Given the description of an element on the screen output the (x, y) to click on. 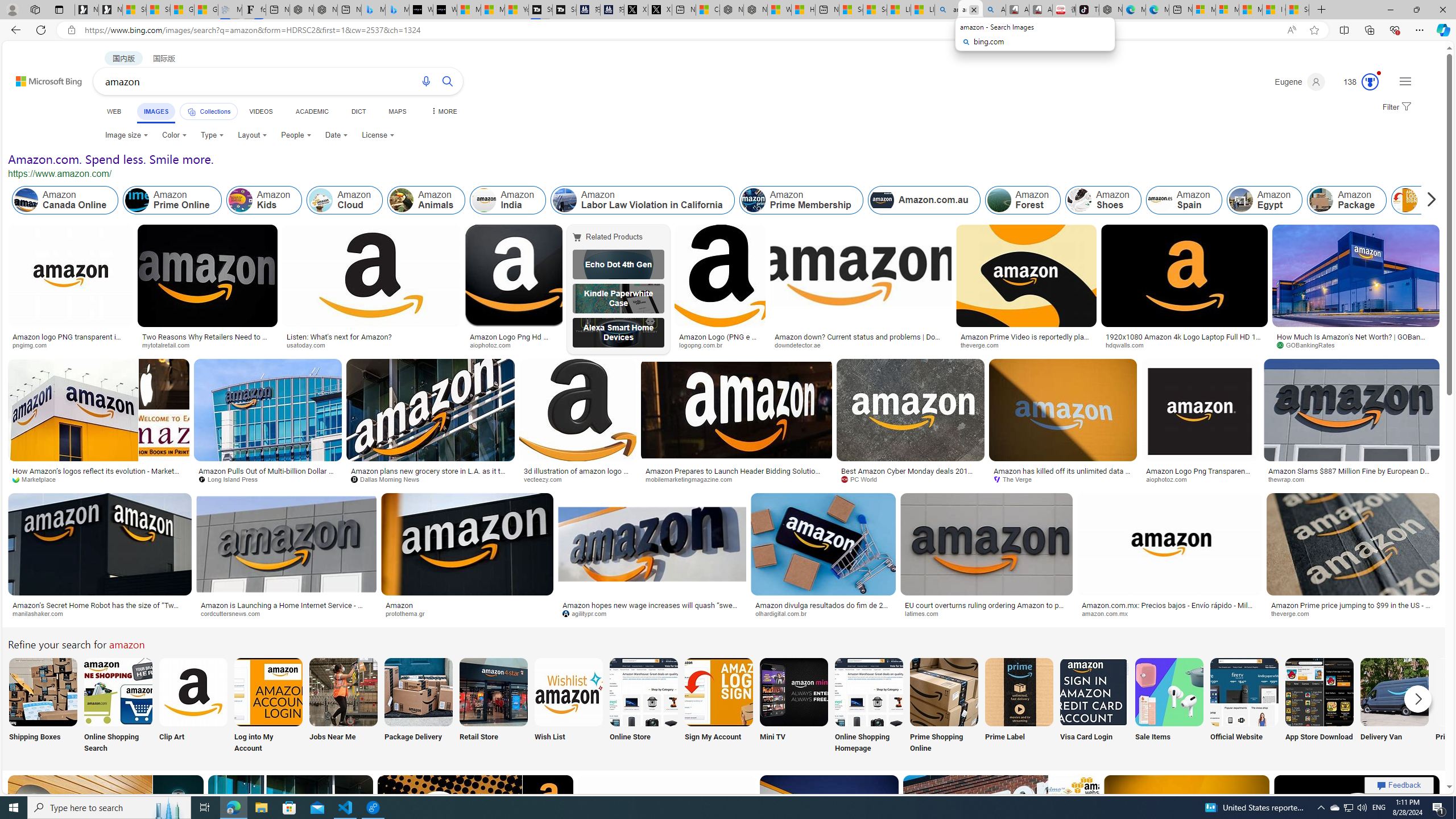
Amazon Package (1346, 199)
Amazon Sale Items Sale Items (1169, 706)
amazon.com.mx (1108, 612)
Amazon Login (1405, 200)
PC World (863, 479)
Amazon Forest (1023, 199)
Amazon Official Website Official Website (1243, 706)
Amazon Shipping Boxes (42, 691)
